Given the description of an element on the screen output the (x, y) to click on. 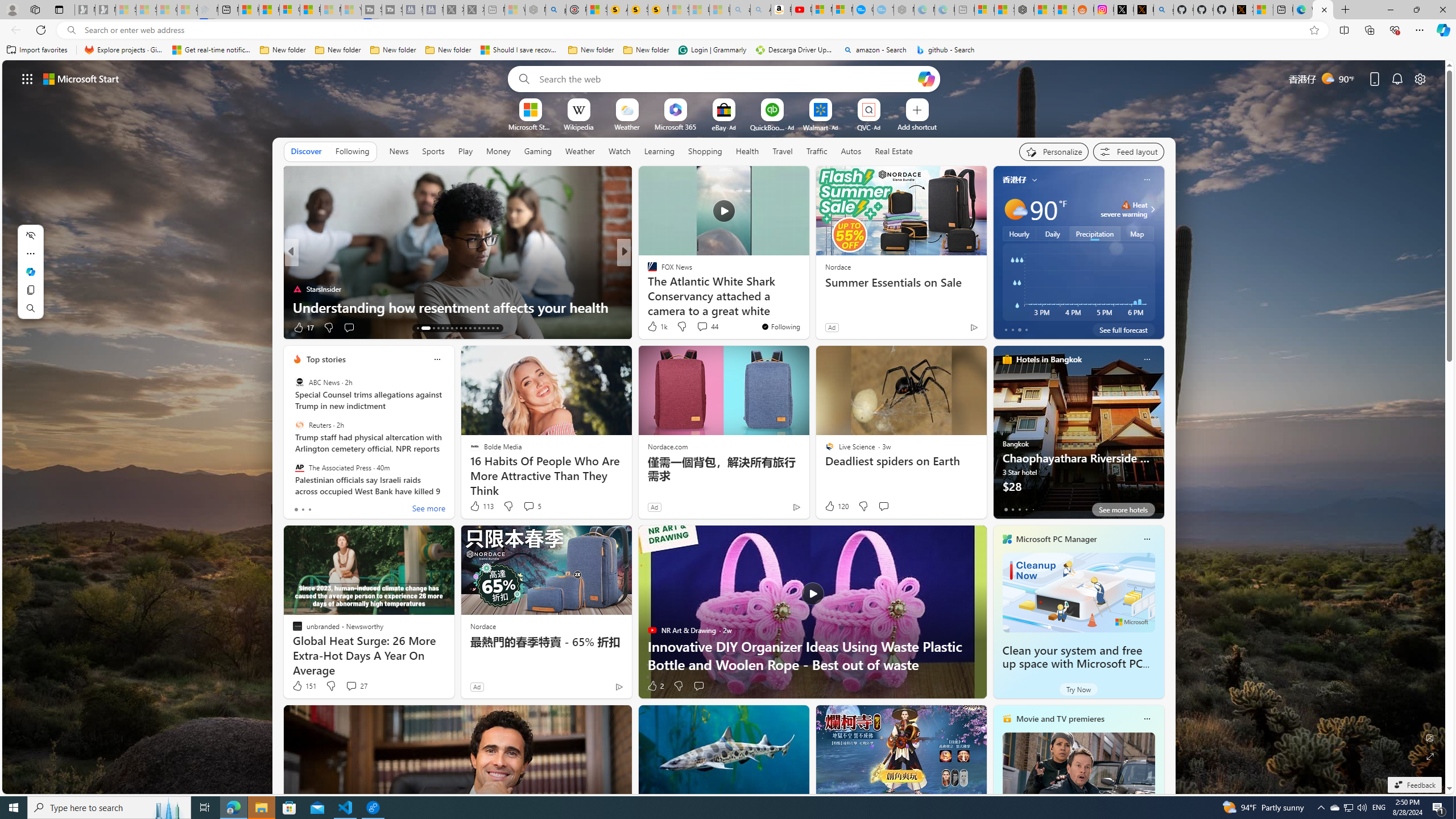
86 Like (652, 327)
Autos (851, 151)
Descarga Driver Updater (794, 49)
Real Estate (893, 151)
Try Now (1078, 689)
Traffic (816, 151)
View comments 6 Comment (698, 327)
5 Like (651, 327)
Hotels in Bangkok (1048, 359)
634 Like (654, 327)
Class: weather-arrow-glyph (1152, 208)
Nordace.com (667, 446)
